Given the description of an element on the screen output the (x, y) to click on. 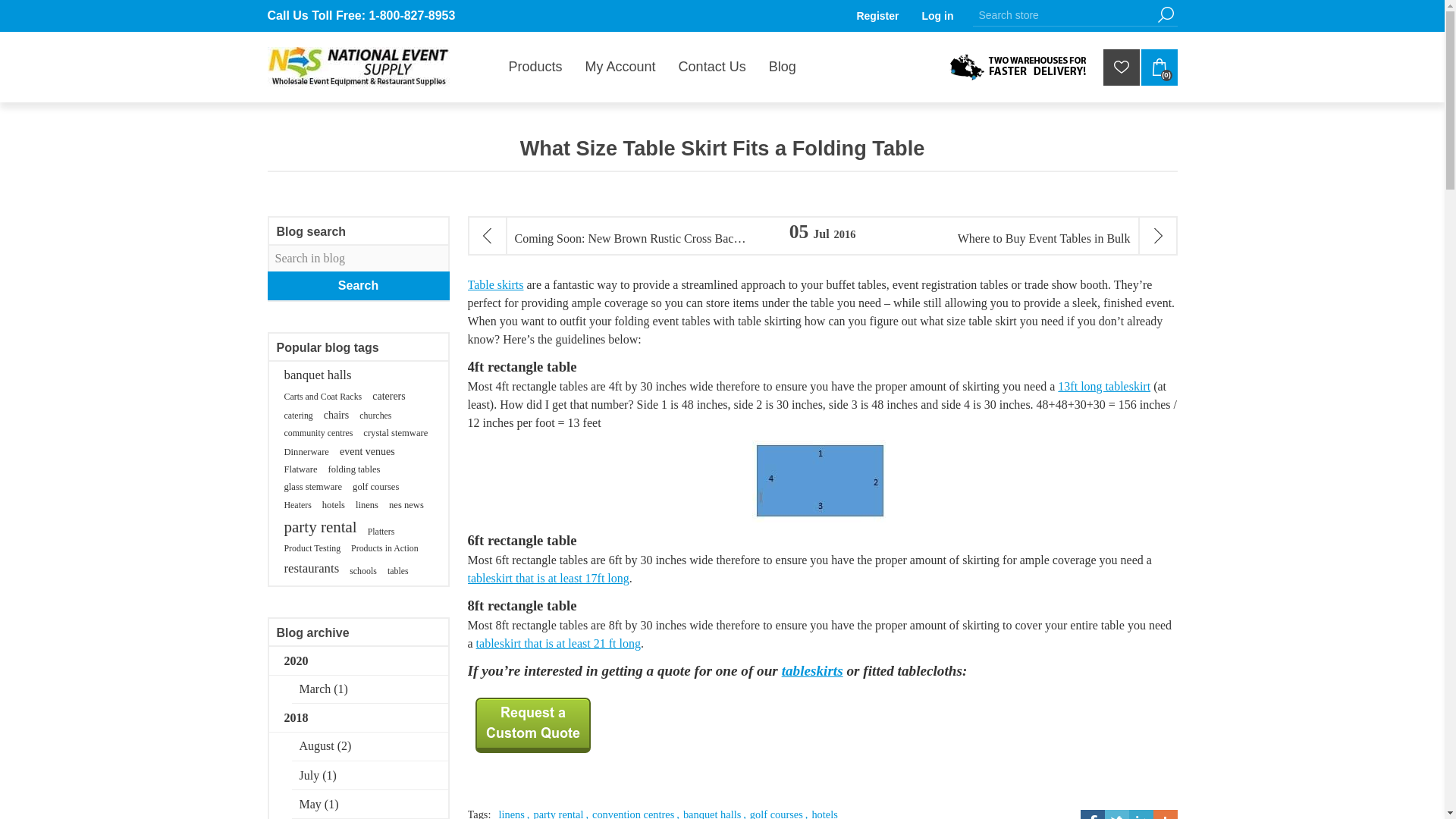
Search (1165, 14)
Search (1165, 14)
Register (877, 15)
Search (1165, 14)
Log in (937, 15)
